Given the description of an element on the screen output the (x, y) to click on. 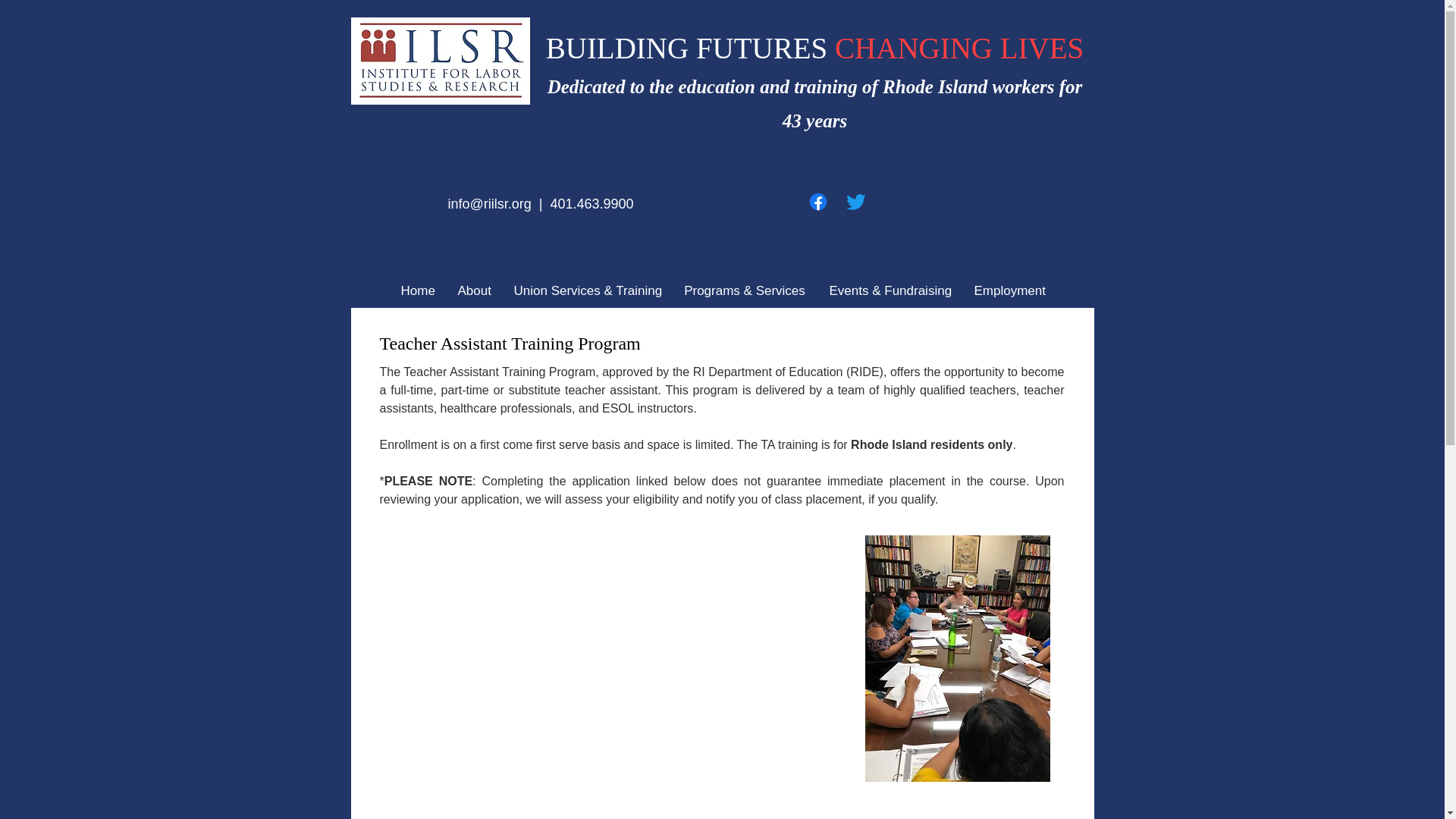
CHANGING LIVES (958, 47)
BUILDING FUTURES (690, 47)
Employment (1008, 290)
About (472, 290)
Home (417, 290)
